Given the description of an element on the screen output the (x, y) to click on. 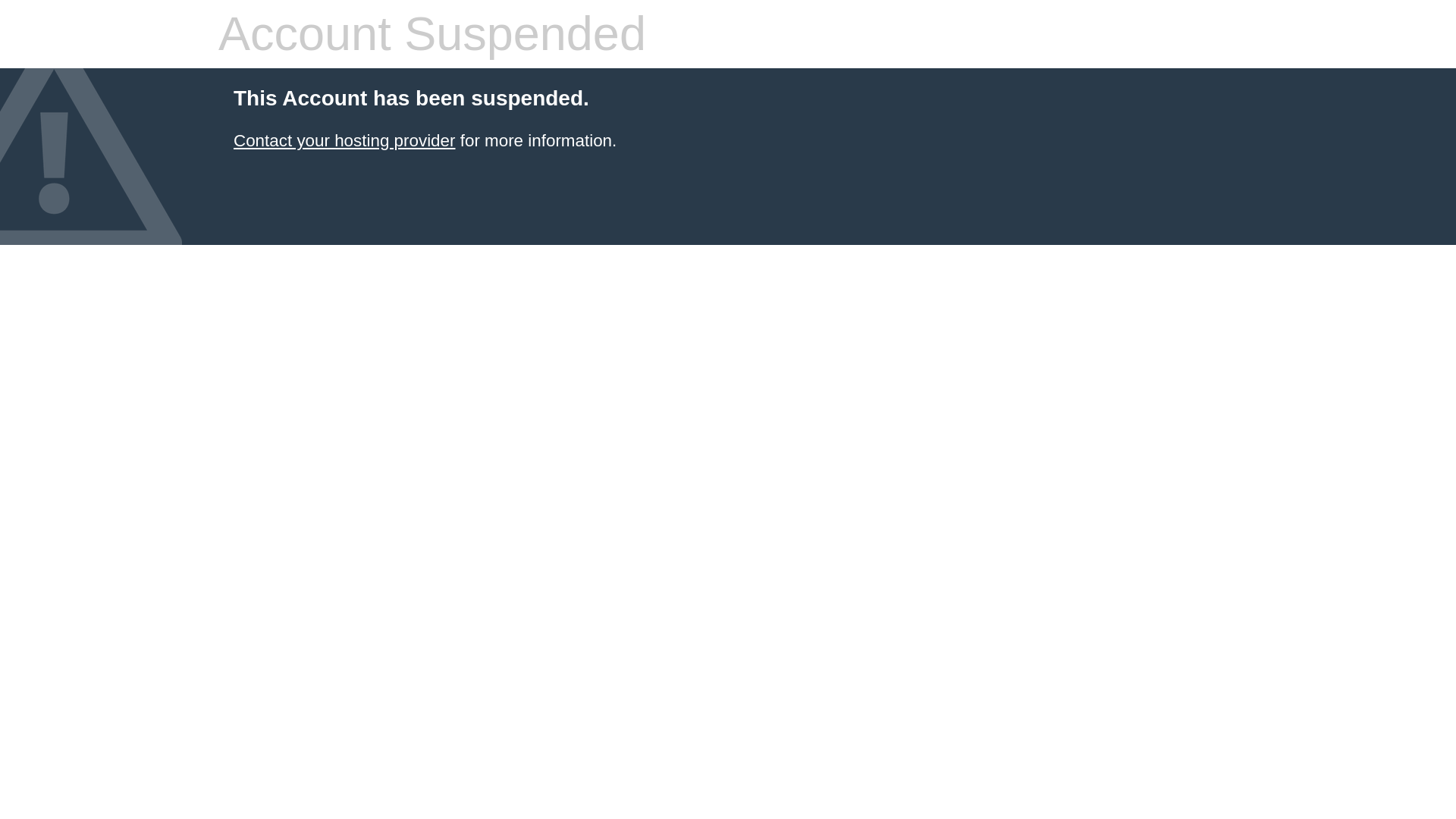
Contact your hosting provider (343, 140)
